Given the description of an element on the screen output the (x, y) to click on. 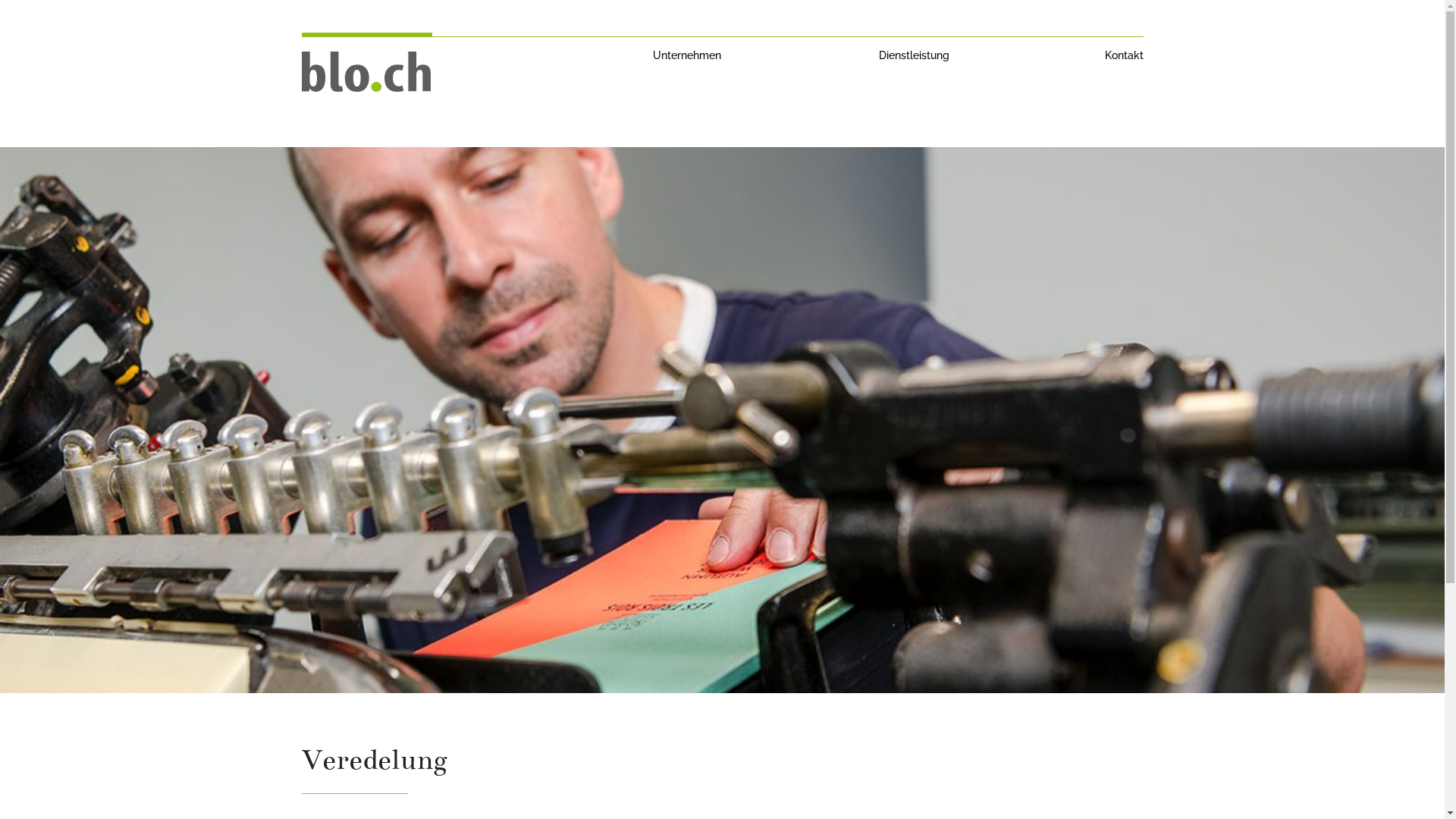
Kontakt Element type: text (1123, 55)
Unternehmen Element type: text (686, 55)
Dienstleistung Element type: text (913, 55)
